Given the description of an element on the screen output the (x, y) to click on. 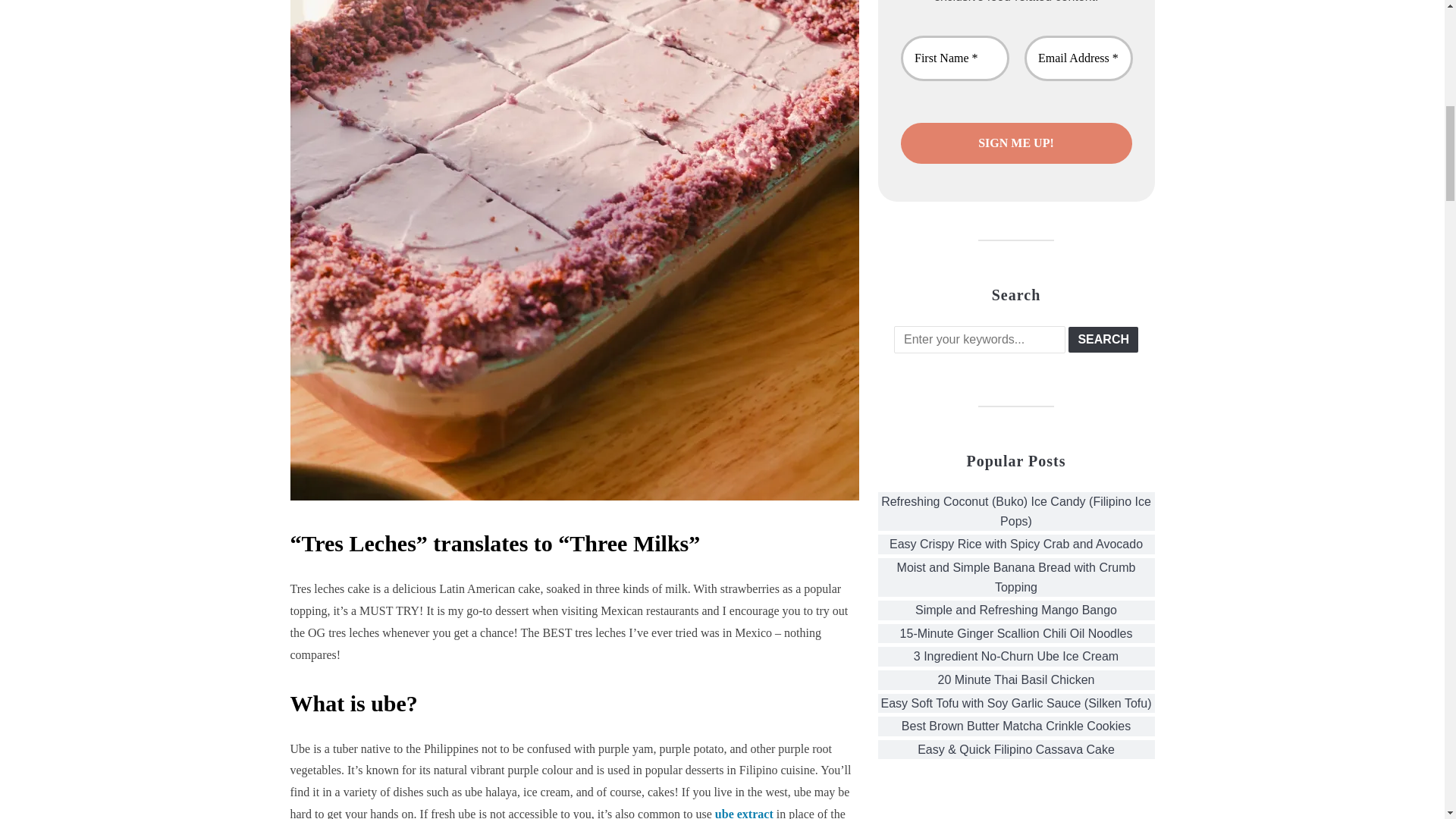
Search (1103, 339)
Sign me up! (1016, 142)
Search (1103, 339)
